Given the description of an element on the screen output the (x, y) to click on. 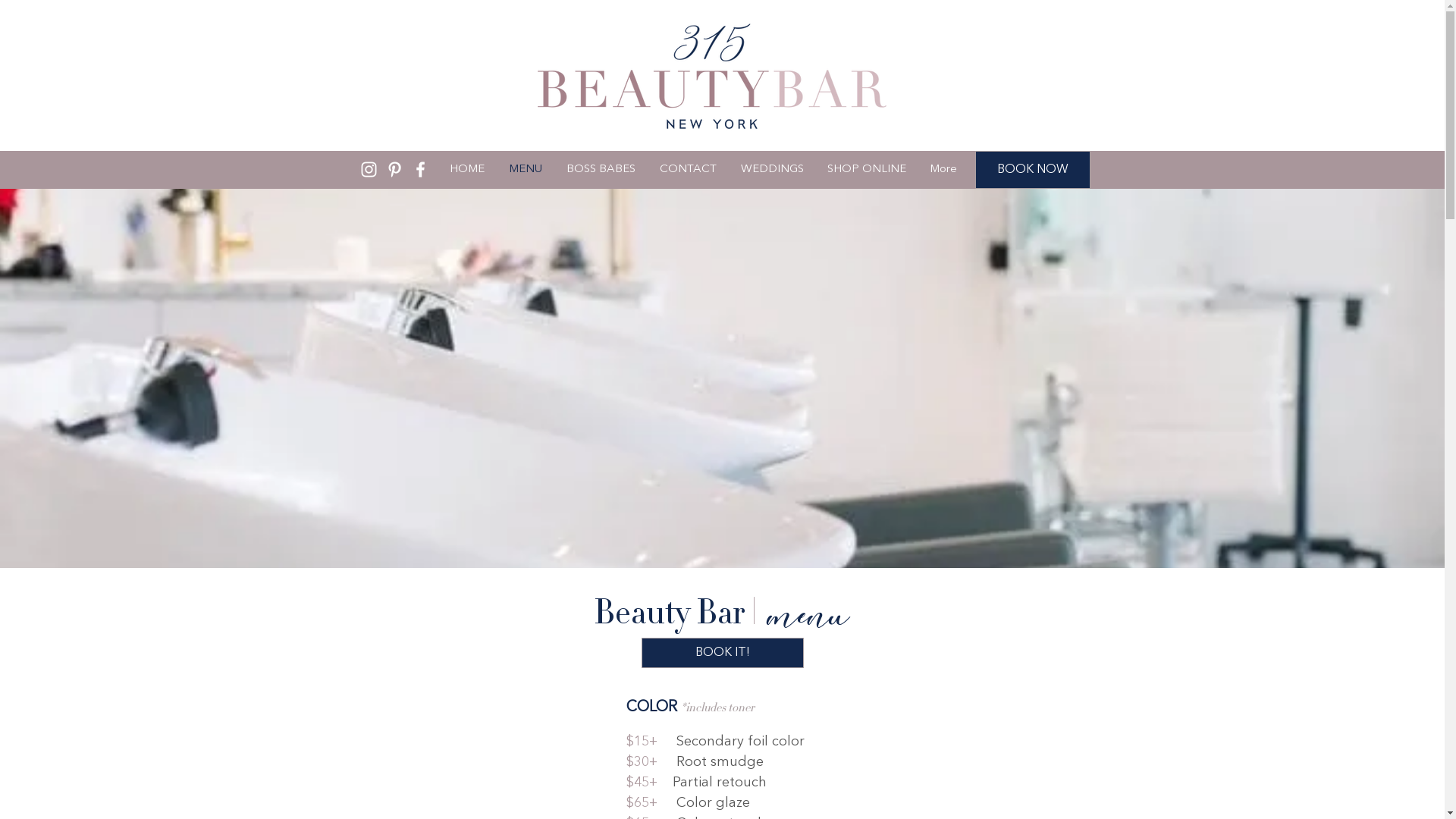
SHOP ONLINE Element type: text (866, 169)
HOME Element type: text (465, 169)
MENU Element type: text (524, 169)
CONTACT Element type: text (687, 169)
WEDDINGS Element type: text (771, 169)
BOOK IT! Element type: text (722, 652)
BOOK NOW Element type: text (1032, 169)
